Given the description of an element on the screen output the (x, y) to click on. 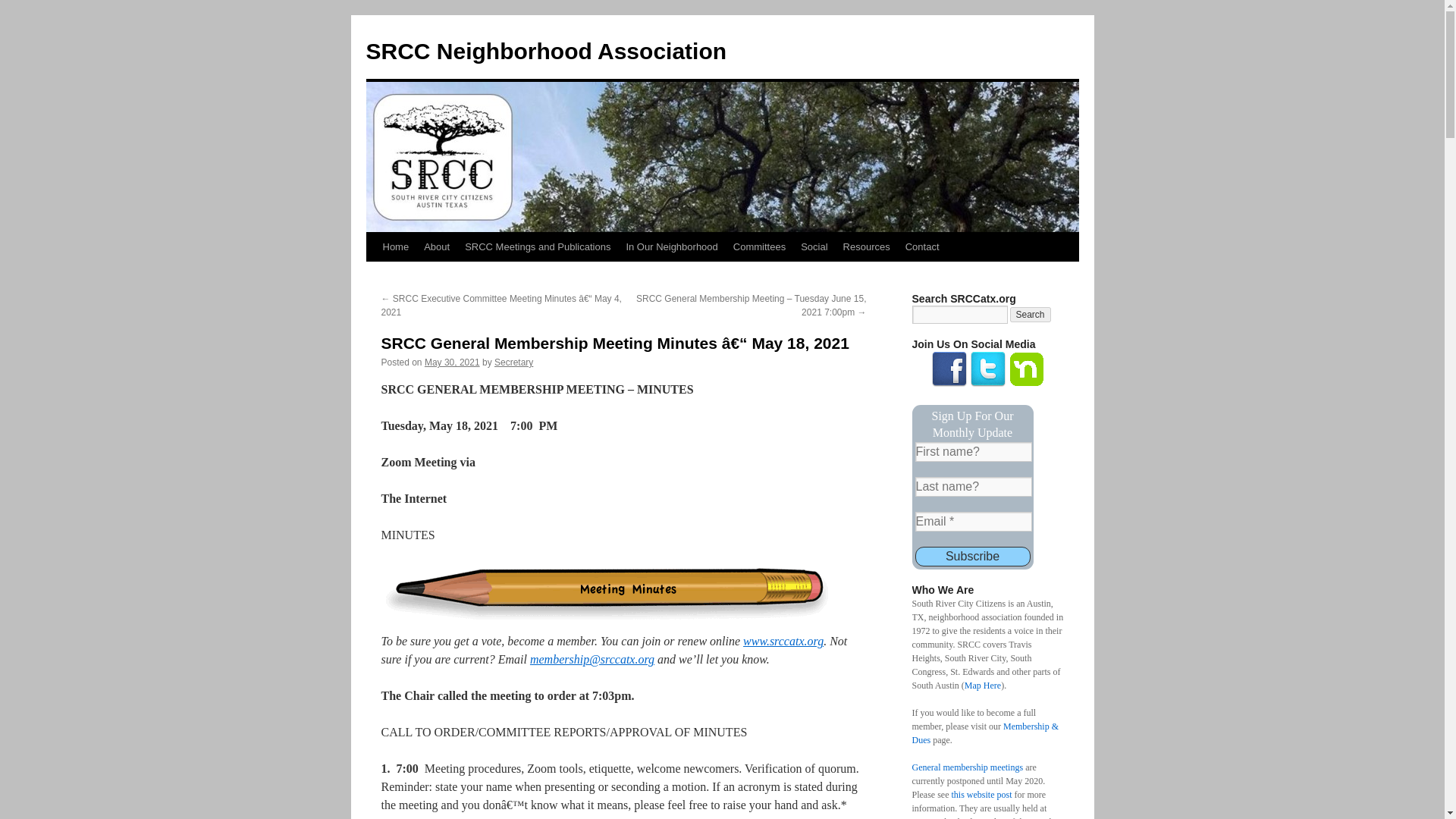
First name? (972, 451)
Contact (922, 246)
SRCC Neighborhood Association (545, 50)
8:22 am (452, 362)
Committees (759, 246)
SRCC Neighborhood Association (545, 50)
SRCC Meetings and Publications (537, 246)
Last name? (972, 486)
Social (813, 246)
In Our Neighborhood (671, 246)
About (436, 246)
Subscribe (971, 556)
Home (395, 246)
View all posts by Secretary (513, 362)
Resources (866, 246)
